Given the description of an element on the screen output the (x, y) to click on. 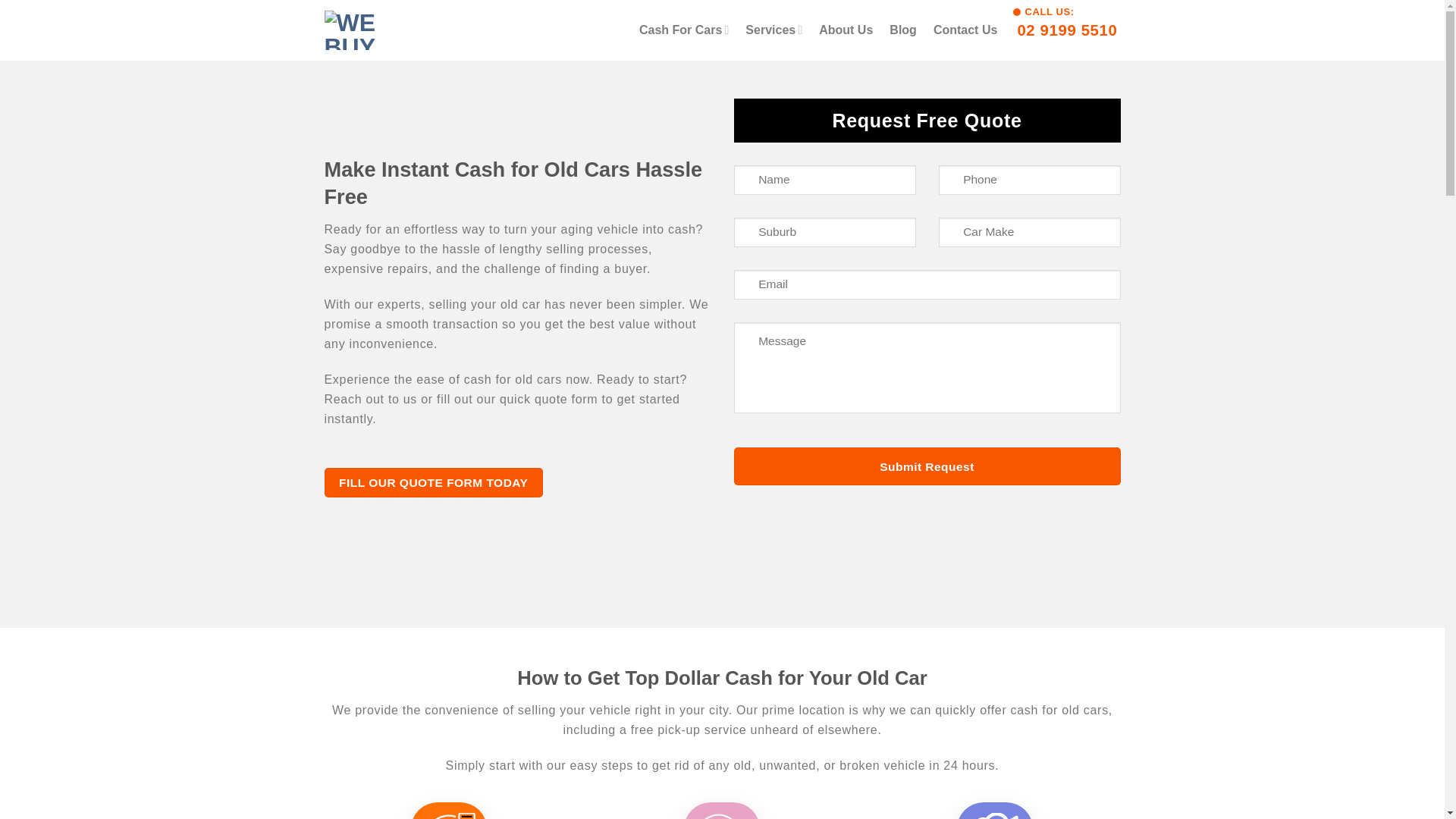
We buy Cars For Cash (400, 30)
Services (773, 30)
About Us (845, 30)
Skip to content (1066, 29)
Blog (965, 30)
FILL OUR QUOTE FORM TODAY (903, 30)
Submit Request (433, 482)
Cash For Cars (927, 466)
